Given the description of an element on the screen output the (x, y) to click on. 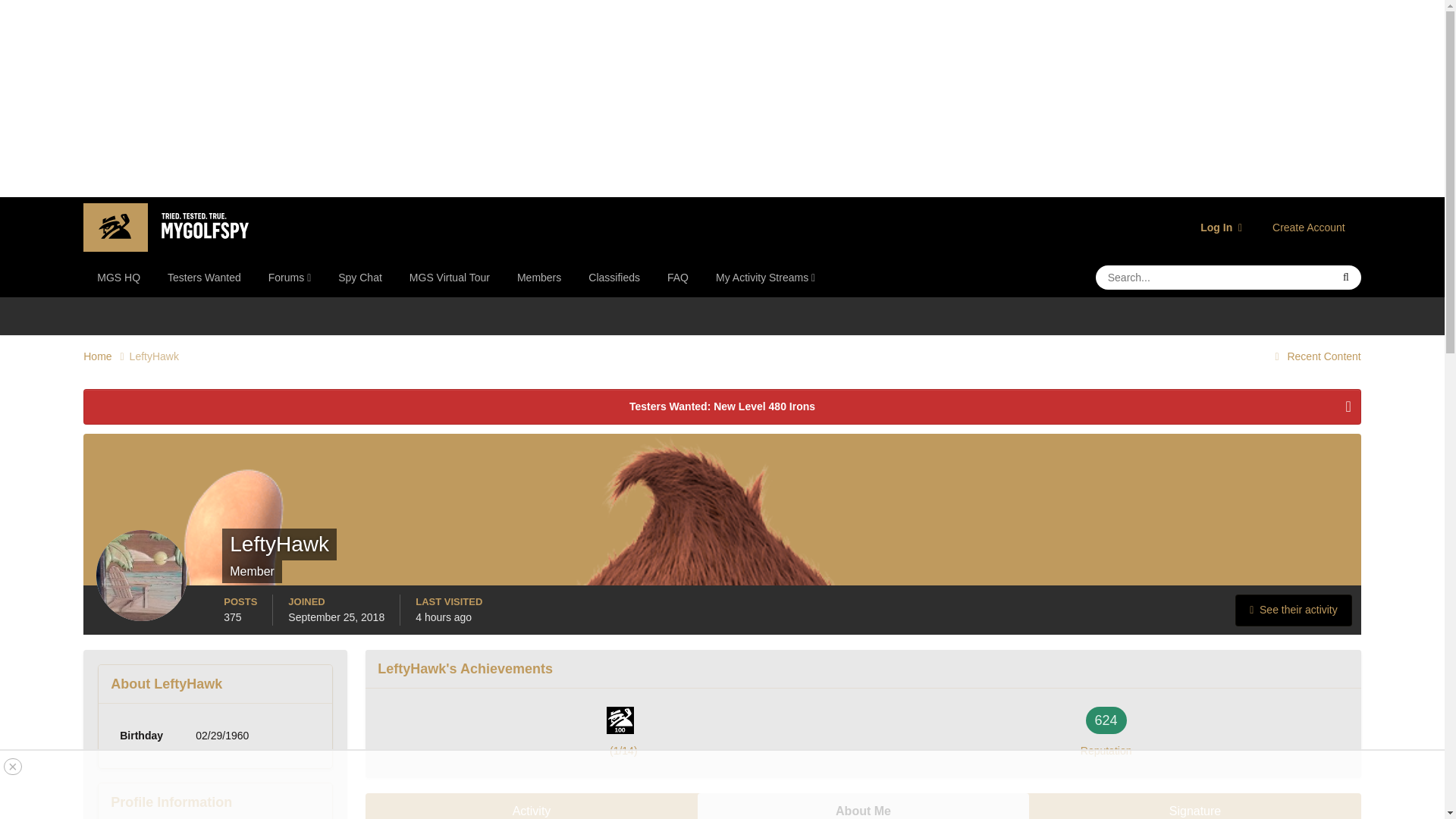
Create Account (1308, 226)
MGS HQ (118, 277)
Log In   (1220, 227)
Forums (289, 277)
Home (105, 356)
LeftyHawk's Content (1293, 610)
Testers Wanted (204, 277)
